Given the description of an element on the screen output the (x, y) to click on. 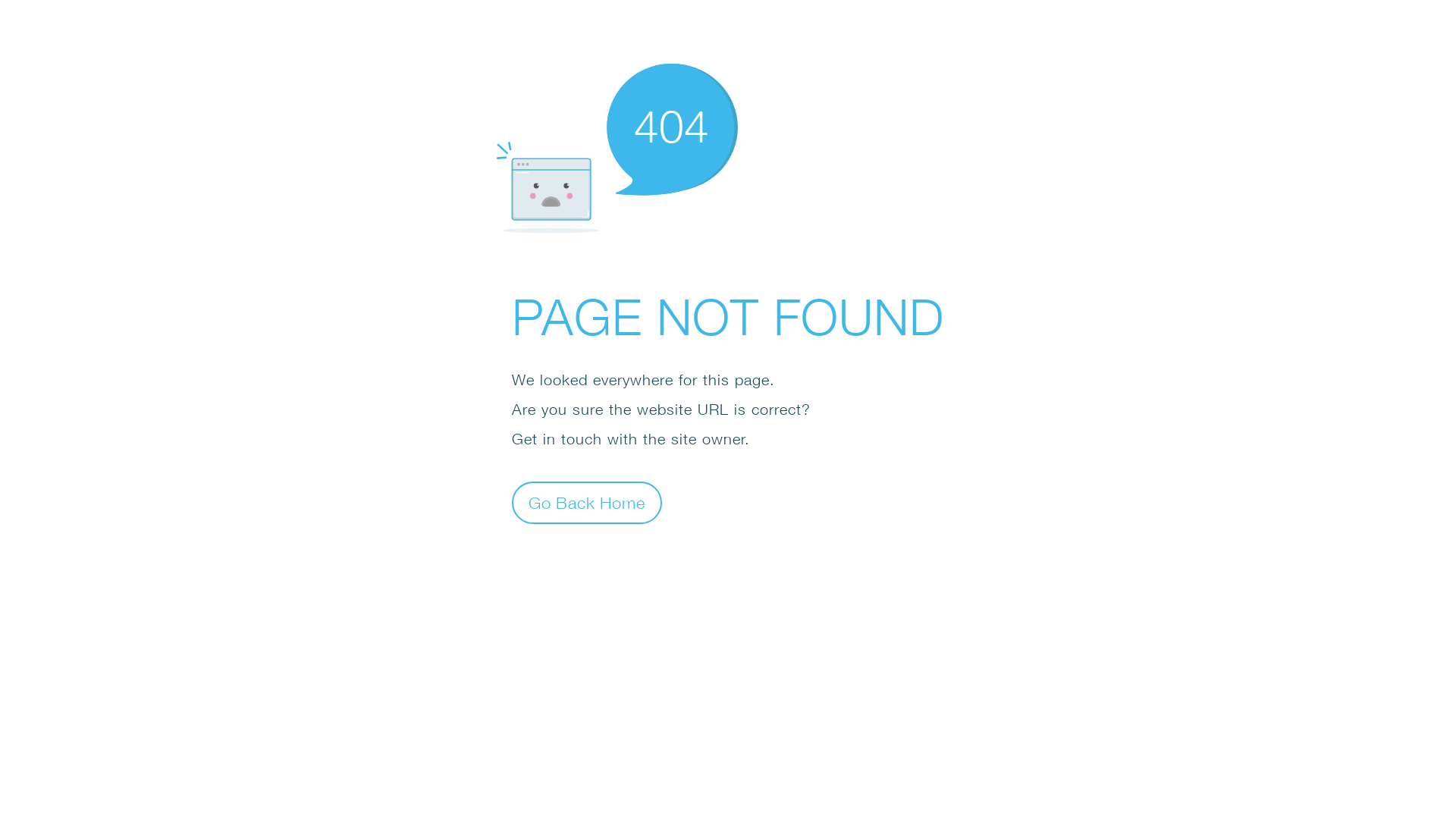
Go Back Home Element type: text (586, 502)
